Given the description of an element on the screen output the (x, y) to click on. 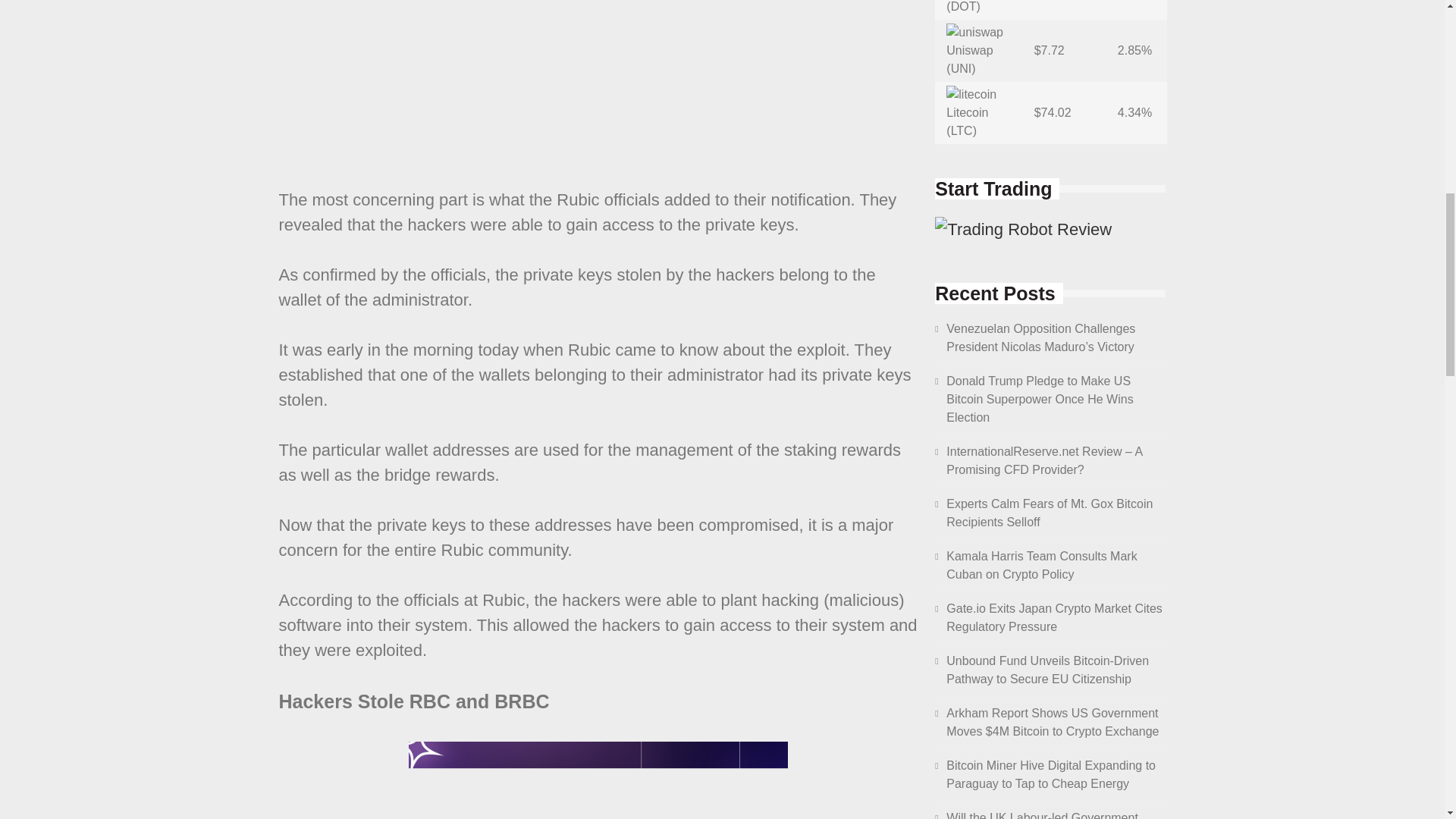
Trading Robot Review (1023, 229)
